Given the description of an element on the screen output the (x, y) to click on. 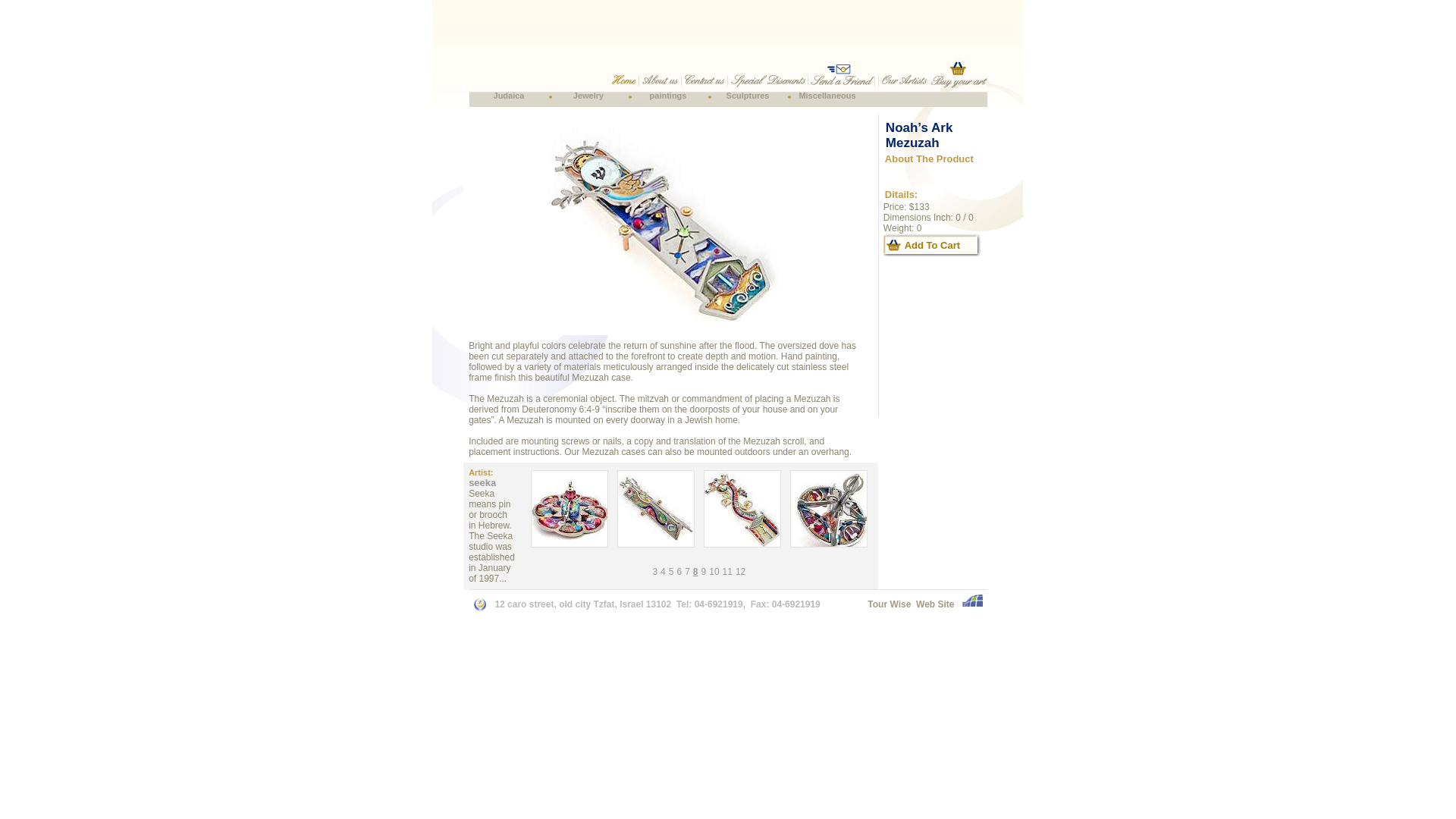
Modern (726, 107)
Sculptures (748, 94)
paintings (668, 94)
Add To Cart (932, 244)
Judaica (508, 94)
Seeka Dreidel 2 (828, 543)
Miscellaneous (826, 94)
Vases (803, 107)
Jewelry (588, 94)
Seeka Dreidel 1 (569, 543)
